Given the description of an element on the screen output the (x, y) to click on. 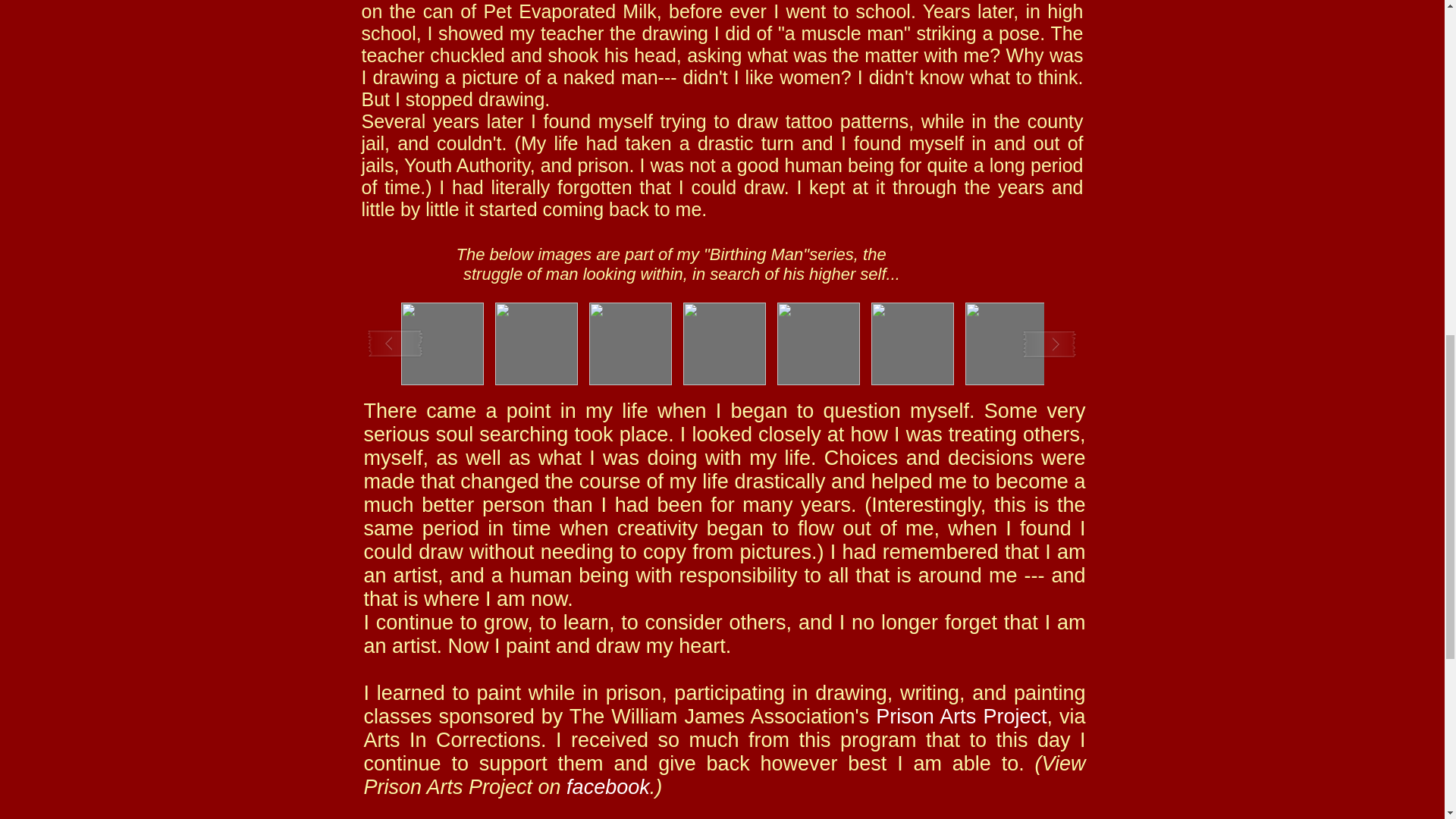
Prison Arts Project (961, 716)
facebook (607, 786)
